Given the description of an element on the screen output the (x, y) to click on. 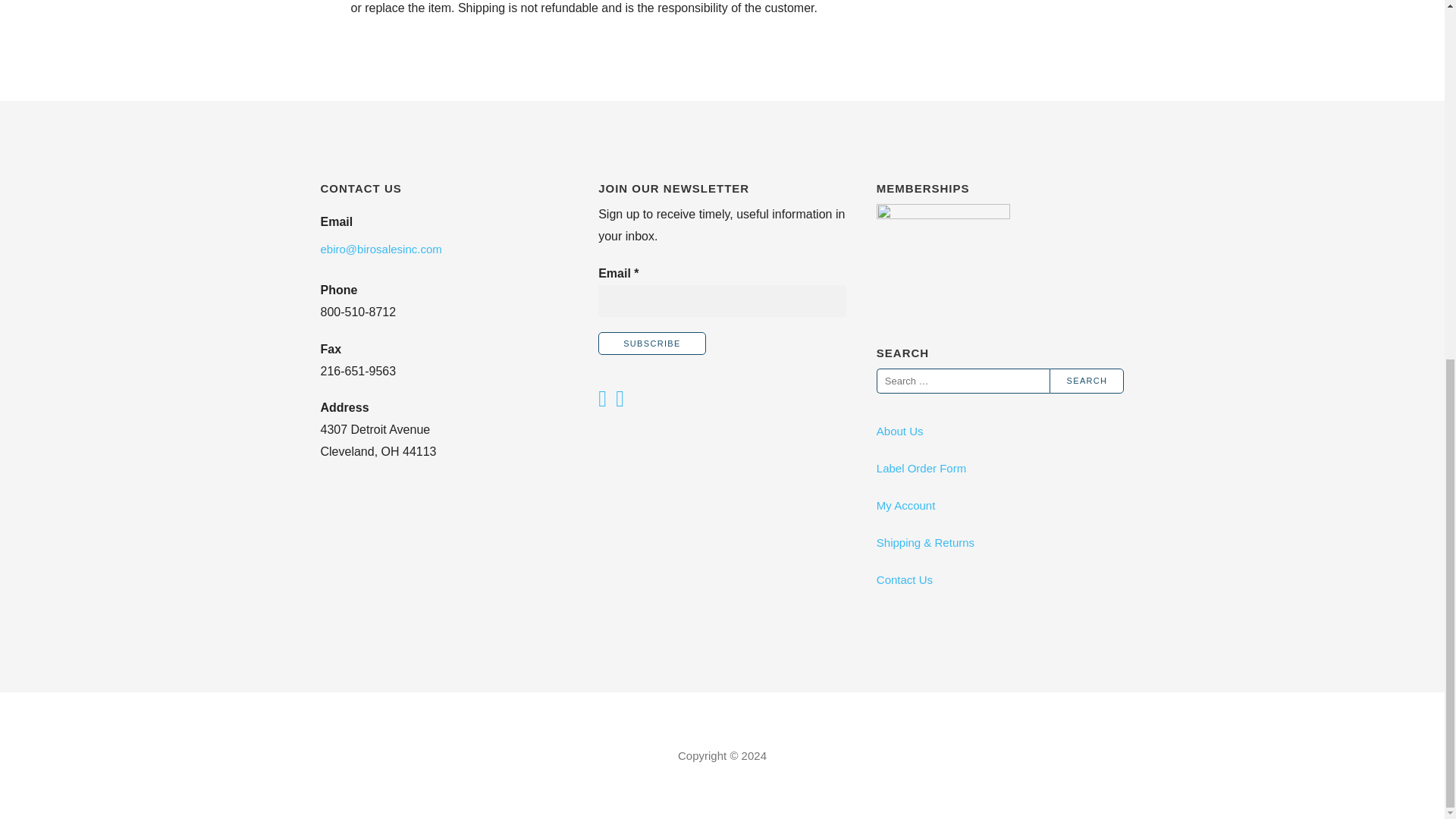
Search (1086, 380)
Subscribe (652, 343)
Search (1086, 380)
Subscribe (652, 343)
